Given the description of an element on the screen output the (x, y) to click on. 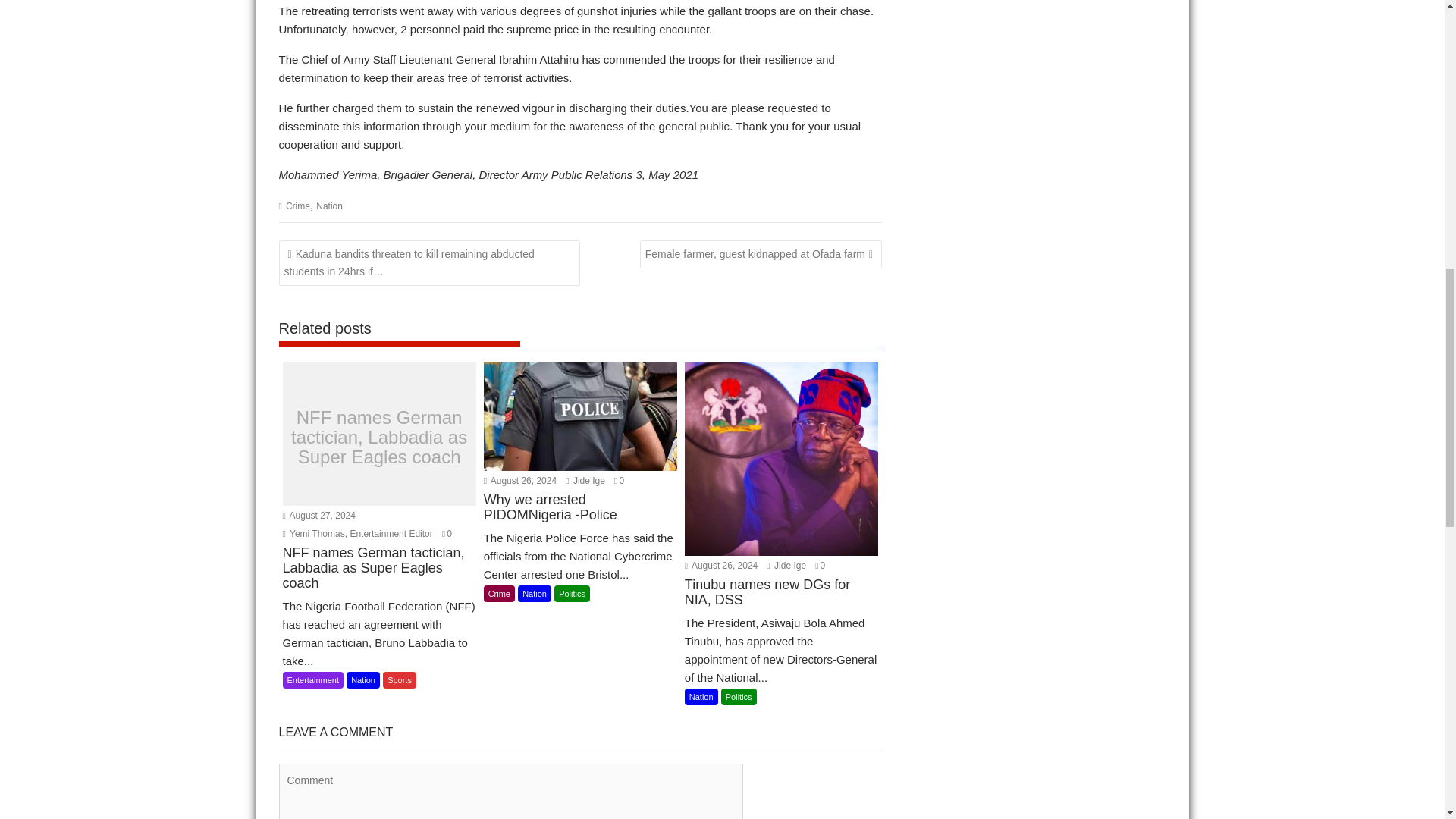
Yemi Thomas, Entertainment Editor (357, 533)
Jide Ige (585, 480)
Jide Ige (786, 565)
